Given the description of an element on the screen output the (x, y) to click on. 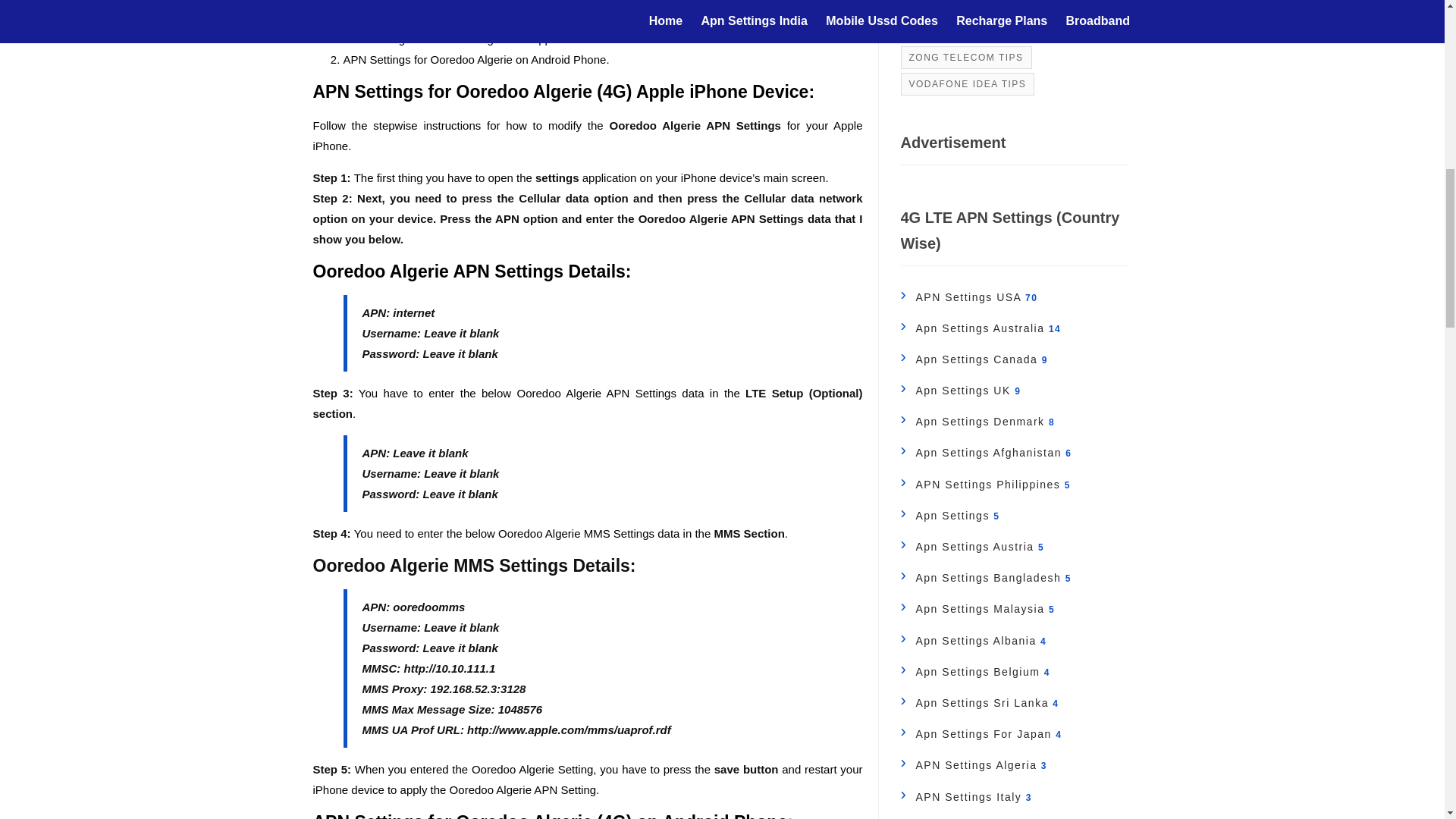
ALL SMARTPHONE APN SETTINGS (1000, 30)
VODAFONE IDEA TIPS (968, 83)
ZONG TELECOM TIPS (966, 56)
Apn Settings Australia 14 (981, 328)
BROADBAND (943, 7)
APN Settings USA 70 (969, 297)
